Given the description of an element on the screen output the (x, y) to click on. 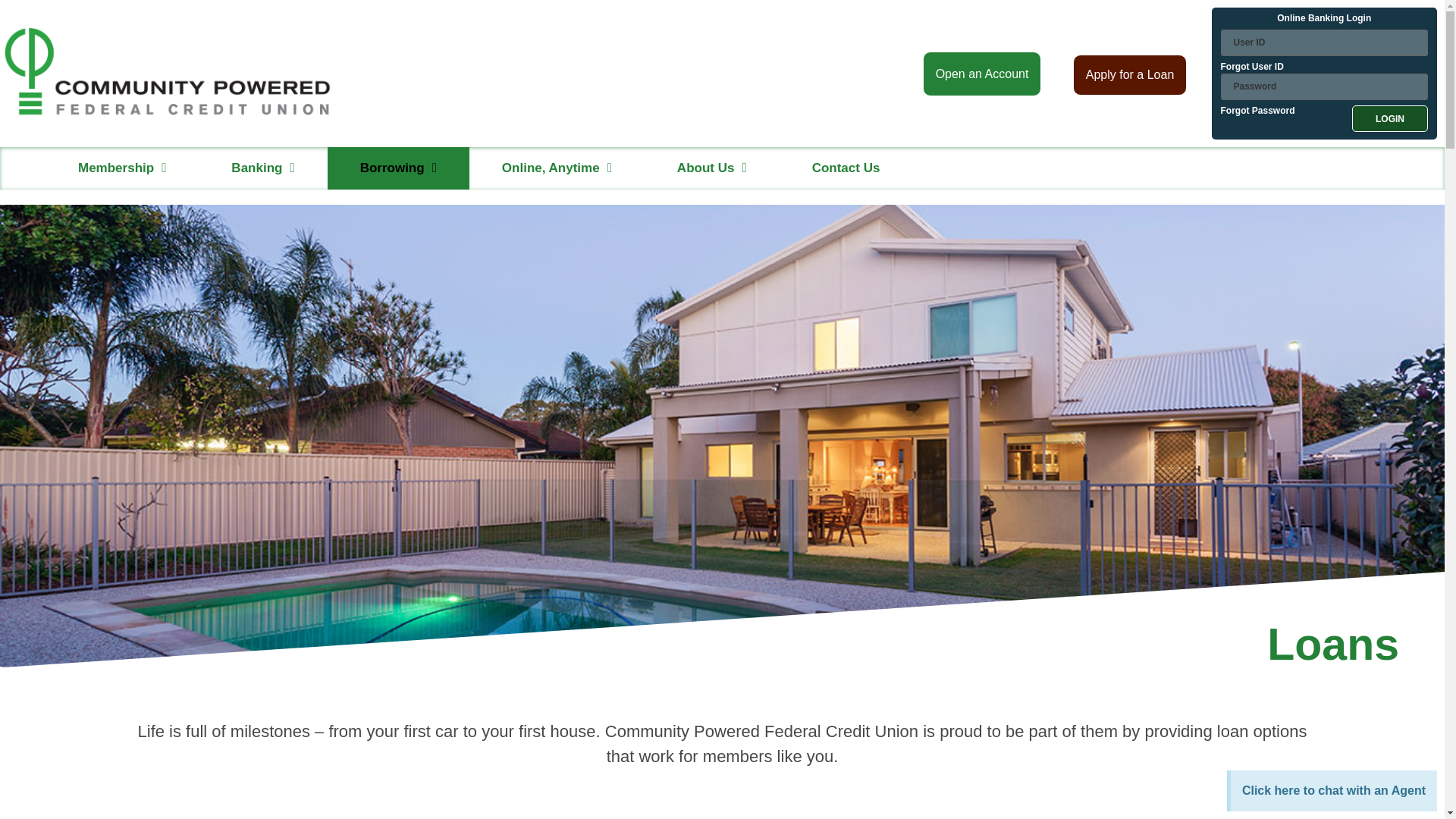
LOGIN (1390, 118)
Banking (262, 168)
Borrowing (397, 168)
About Us (711, 168)
Online, Anytime (556, 168)
Forgot Password (1258, 117)
Apply for a Loan (1130, 70)
Apply for a Loan (1130, 74)
Forgot User ID (1252, 66)
LOGIN (1390, 118)
Open an Account (982, 69)
Open an Account (982, 73)
Membership (121, 168)
